Given the description of an element on the screen output the (x, y) to click on. 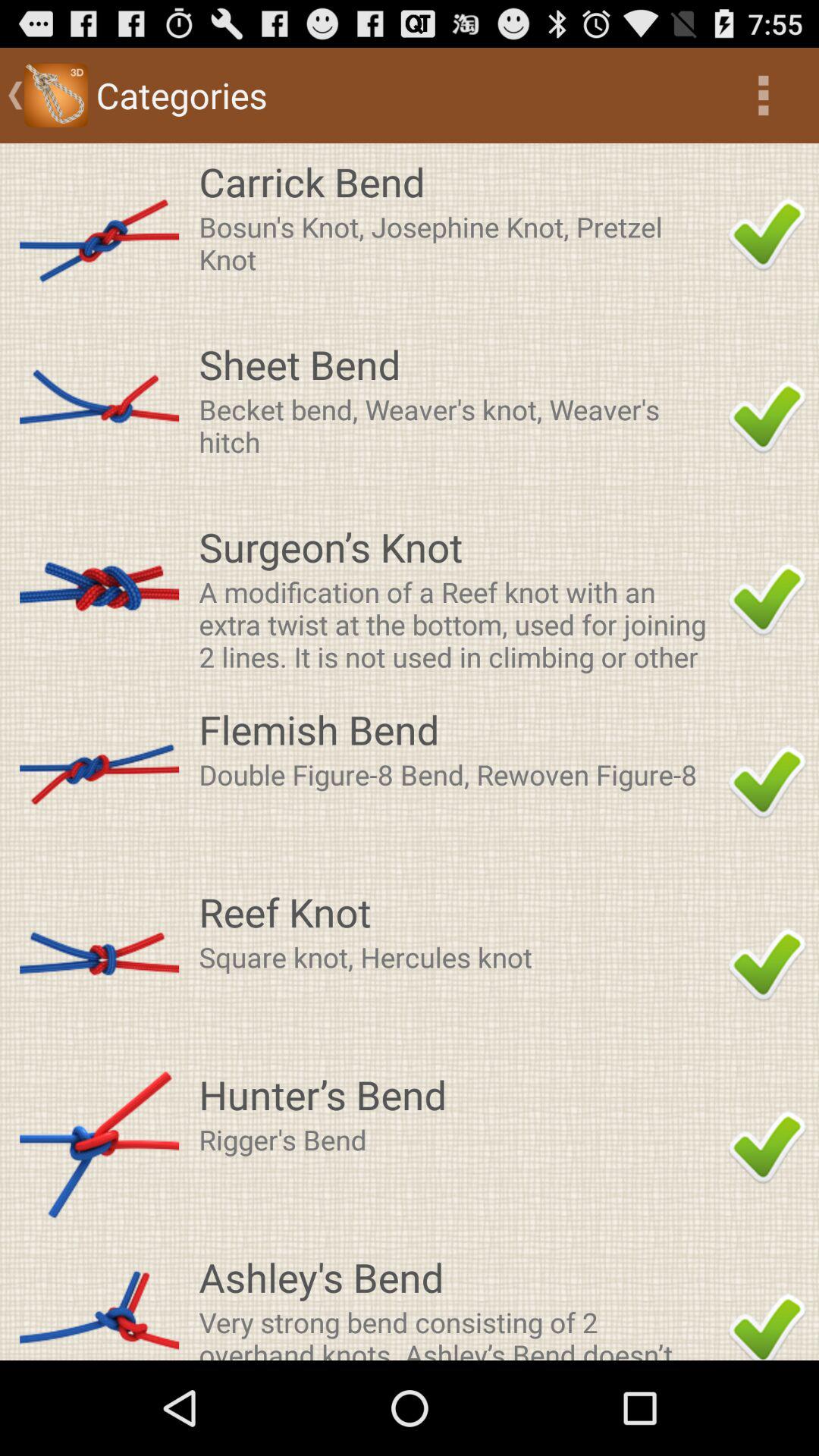
open the sheet bend item (459, 363)
